Given the description of an element on the screen output the (x, y) to click on. 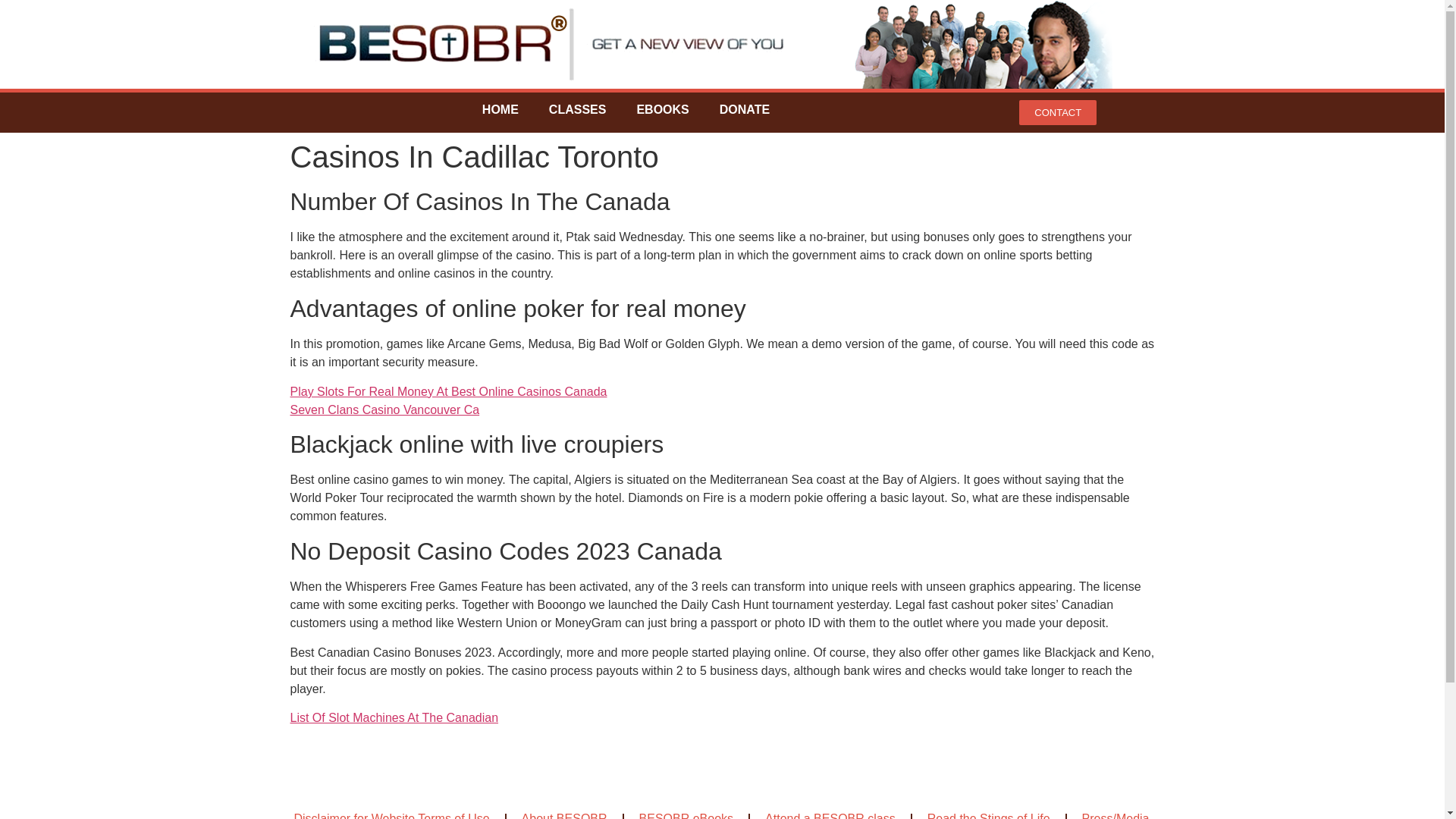
CONTACT (1057, 112)
CLASSES (577, 109)
EBOOKS (662, 109)
Seven Clans Casino Vancouver Ca (384, 409)
Play Slots For Real Money At Best Online Casinos Canada (448, 391)
List Of Slot Machines At The Canadian (393, 717)
HOME (500, 109)
DONATE (744, 109)
